Given the description of an element on the screen output the (x, y) to click on. 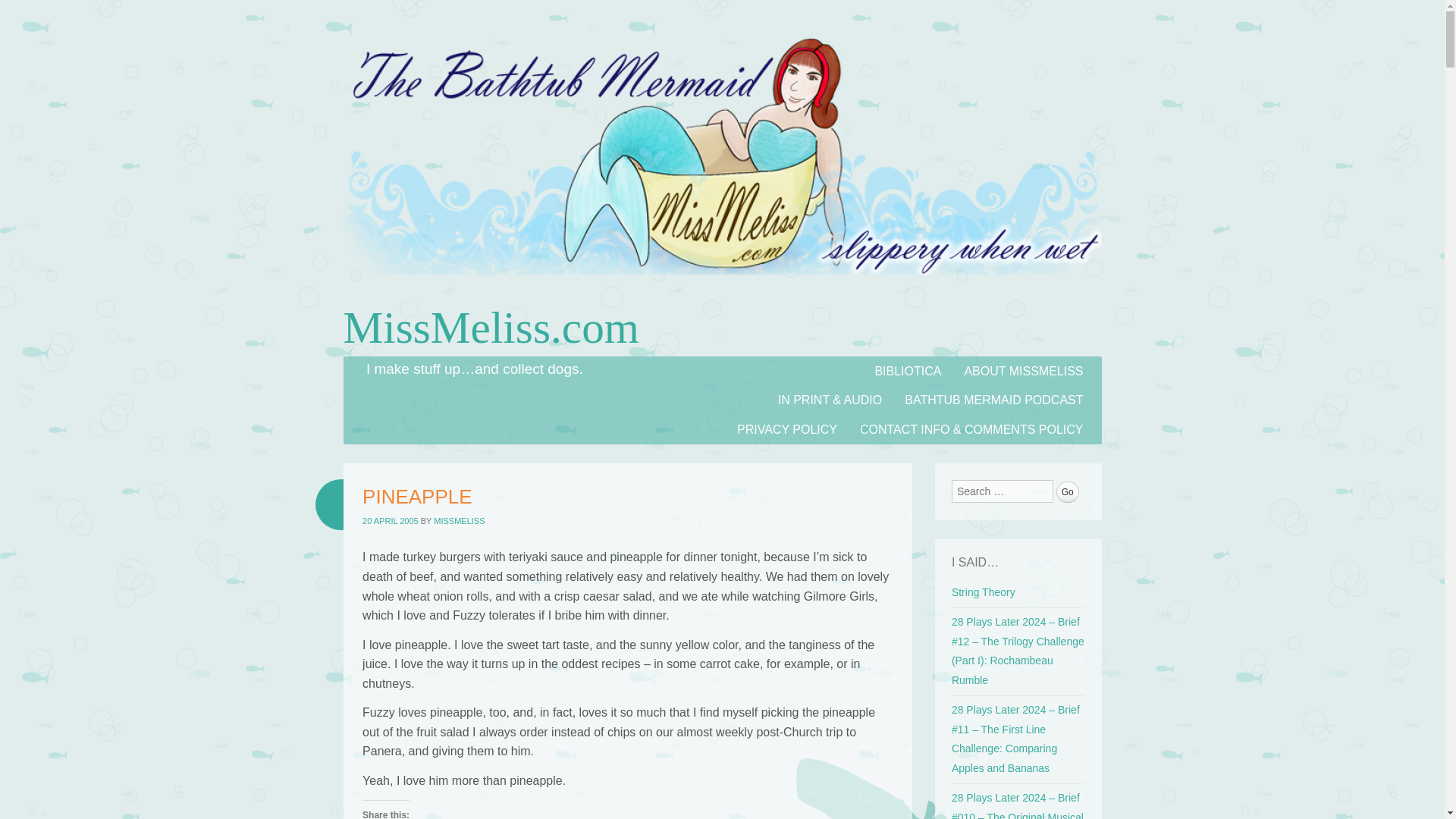
MissMeliss.com (721, 289)
02:24 (390, 520)
View all posts by MissMeliss (458, 520)
ABOUT MISSMELISS (1023, 370)
20 APRIL 2005 (390, 520)
BIBLIOTICA (907, 370)
Go (1067, 491)
BATHTUB MERMAID PODCAST (993, 399)
Go (1067, 491)
Skip to content (382, 365)
